Given the description of an element on the screen output the (x, y) to click on. 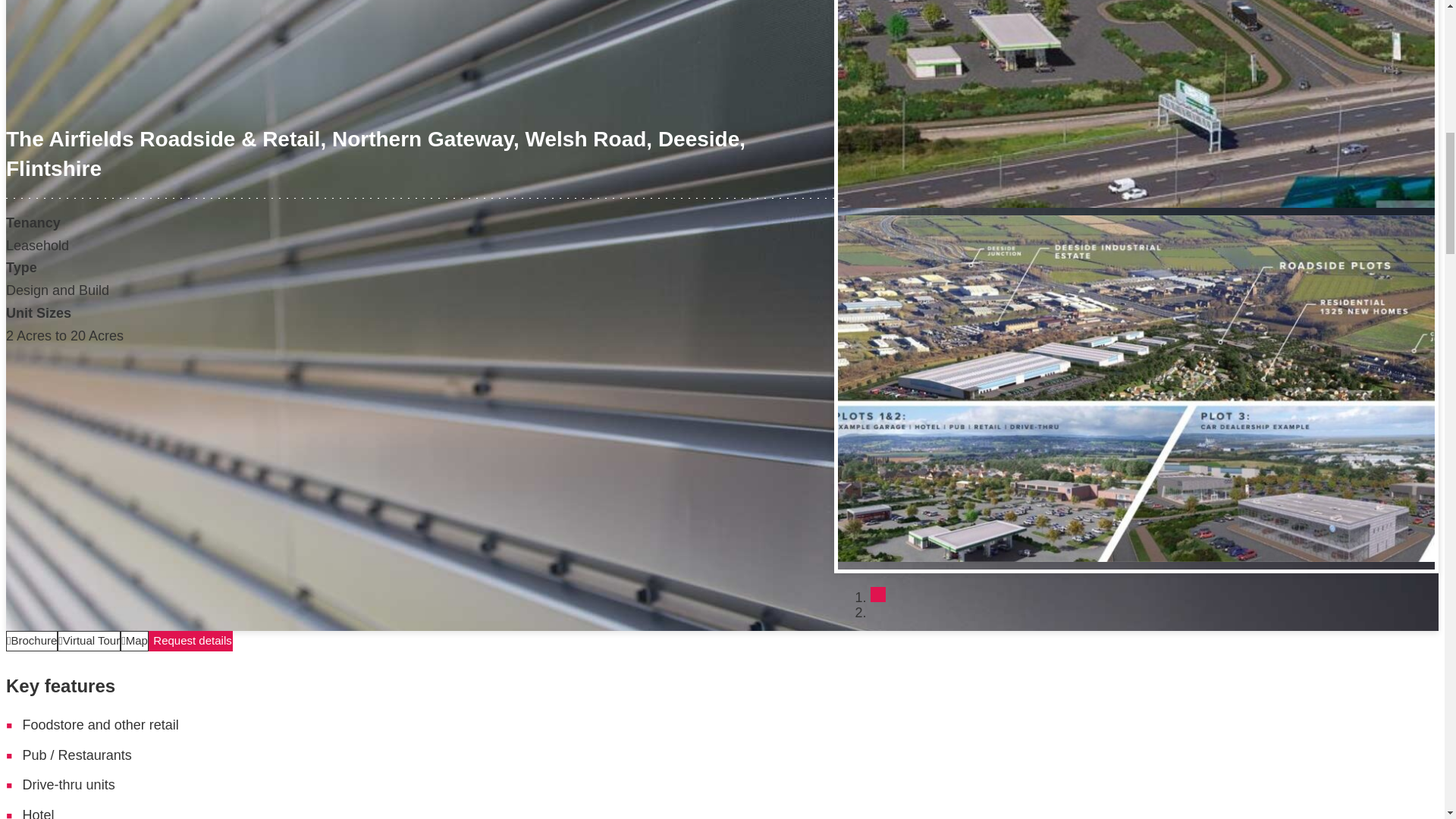
Request details (190, 640)
Map (134, 640)
Request details (190, 640)
Map (134, 640)
Request Details (190, 640)
Map (134, 640)
Brochure (31, 640)
Virtual Tour (89, 640)
